Given the description of an element on the screen output the (x, y) to click on. 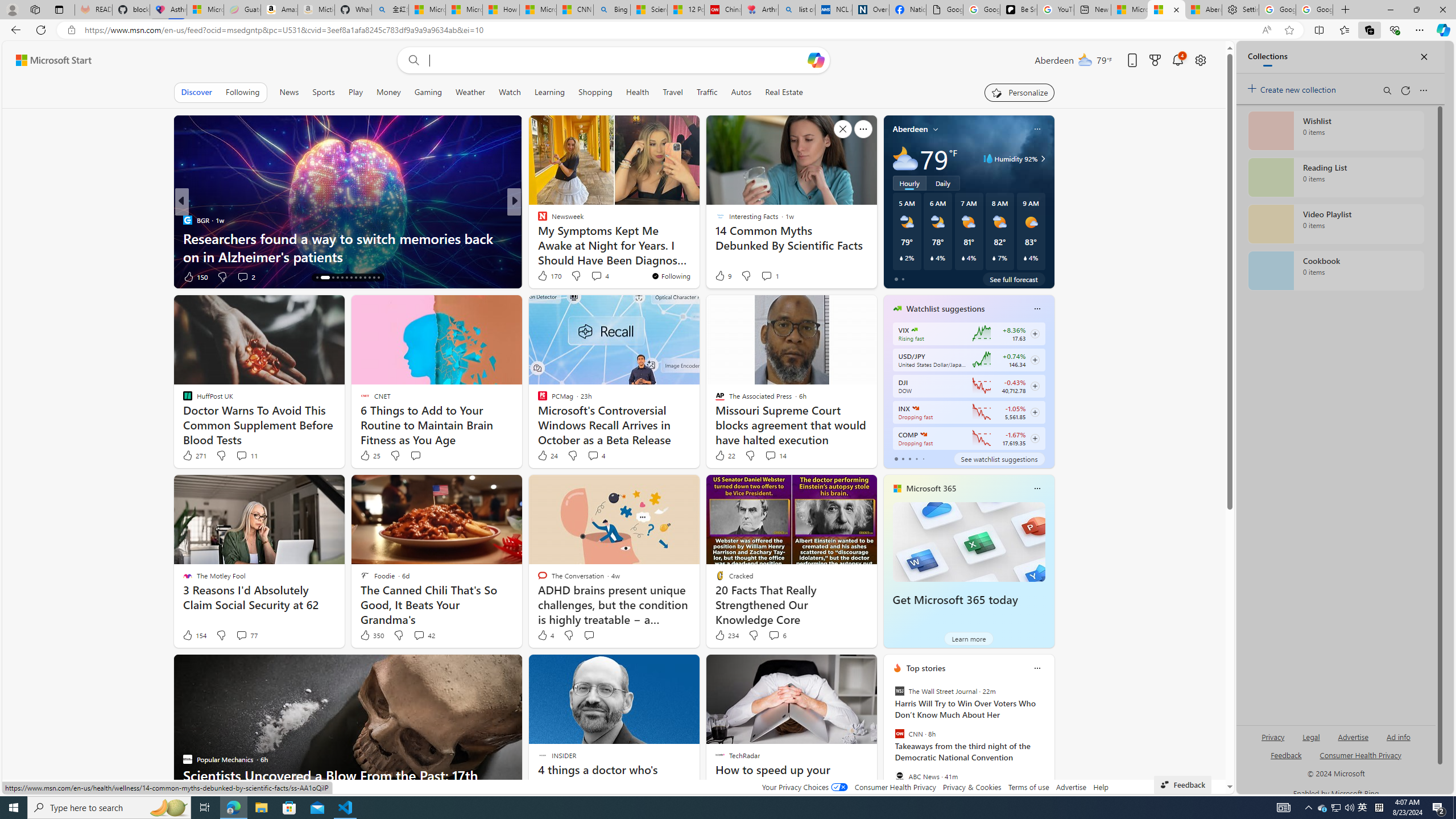
636 Like (545, 276)
Autos (740, 92)
AutomationID: tab-15 (321, 277)
